Given the description of an element on the screen output the (x, y) to click on. 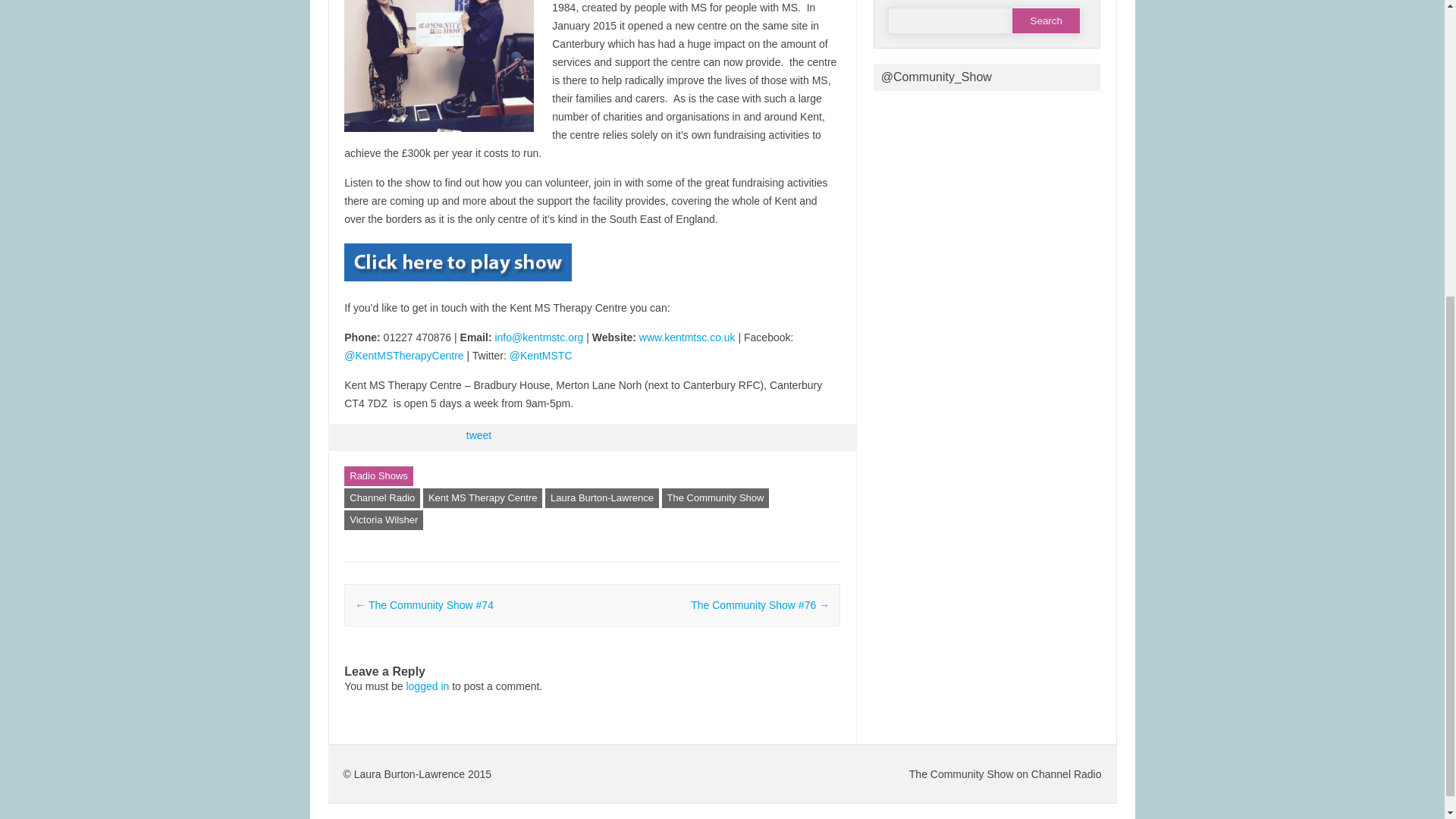
tweet (478, 435)
Search (1045, 20)
logged in (427, 686)
www.kentmtsc.co.uk (687, 337)
Radio Shows (378, 476)
Channel Radio (381, 497)
Victoria Wilsher (383, 519)
The Community Show (716, 497)
Search (1045, 20)
Kent MS Therapy Centre (483, 497)
